Given the description of an element on the screen output the (x, y) to click on. 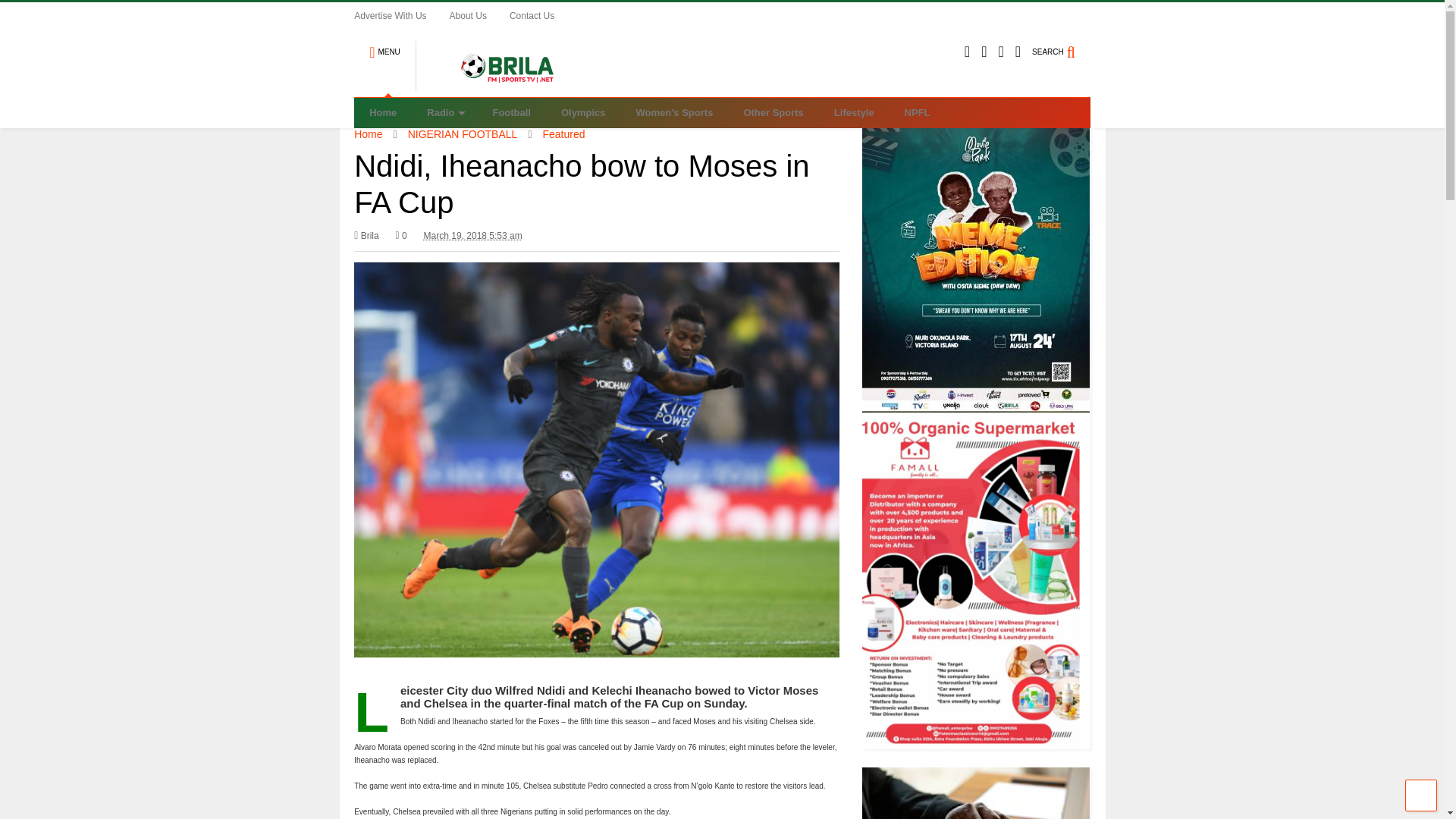
Latest Sports News In Nigeria (498, 84)
NIGERIAN FOOTBALL (462, 133)
About Us (479, 15)
Advertise With Us (400, 15)
Brila (365, 235)
Olympics (583, 112)
Contact Us (542, 15)
Brila (365, 235)
March 19, 2018 5:53 am (472, 235)
March 19, 2018 6:04 am (472, 235)
